Given the description of an element on the screen output the (x, y) to click on. 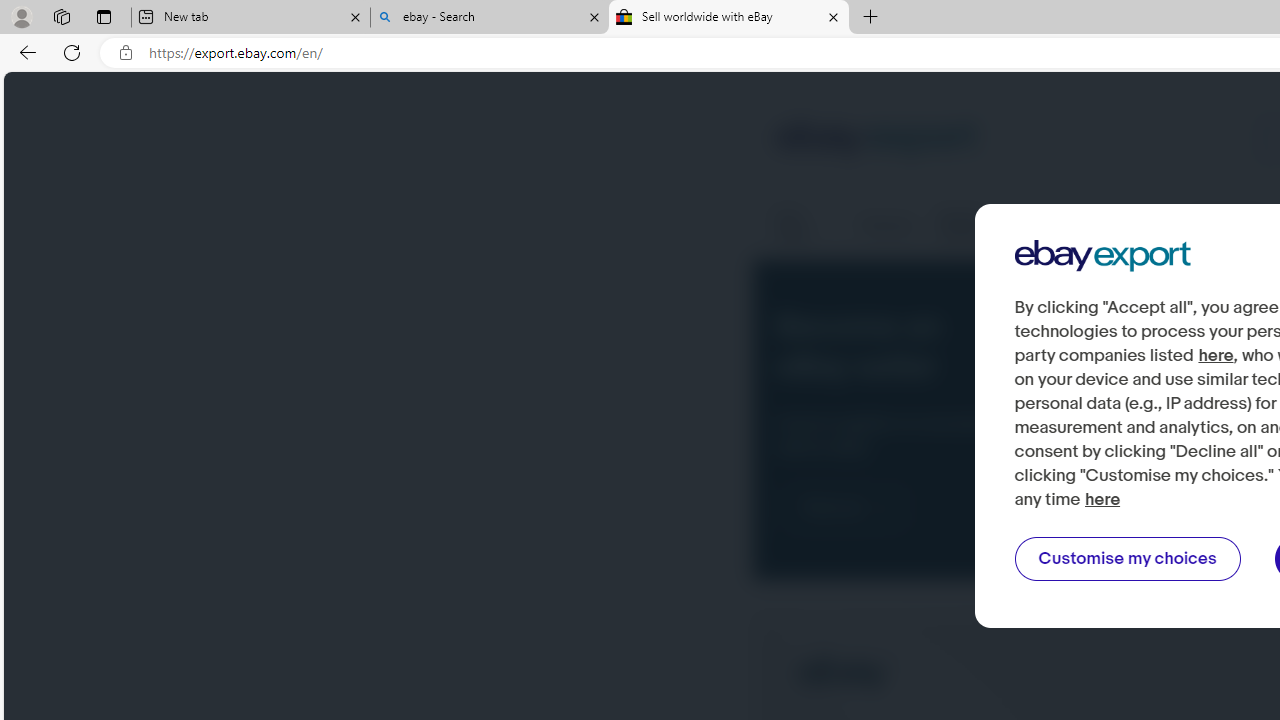
Sell worldwide with eBay (729, 17)
First steps (804, 225)
Ebay Export (1101, 255)
Class: btn__arrow (882, 507)
ebay - Search (490, 17)
Find out (845, 507)
